Given the description of an element on the screen output the (x, y) to click on. 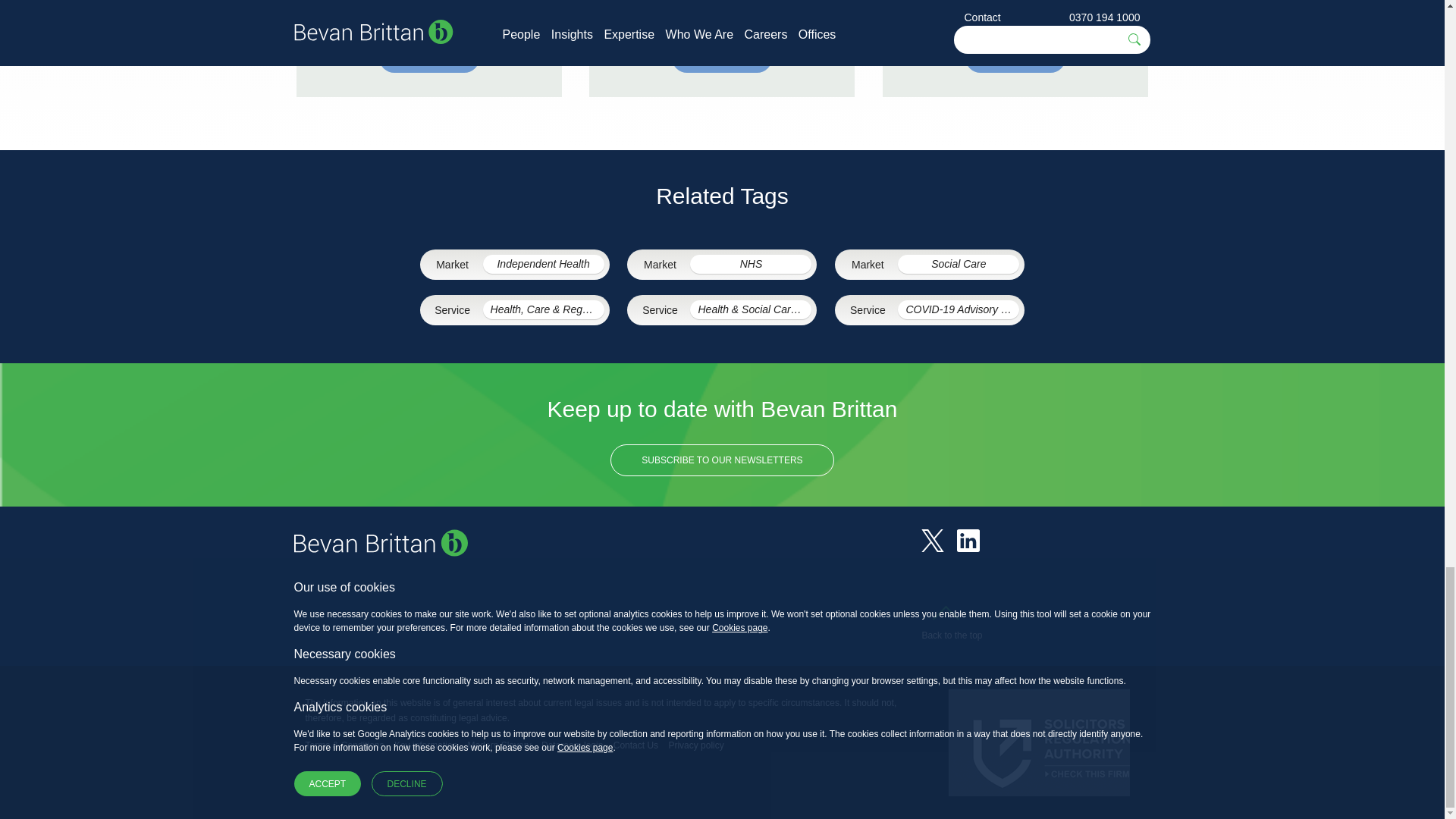
Back to the top (951, 625)
Social Care (958, 263)
Independent Health (543, 263)
NHS (750, 263)
COVID-19 Advisory Service (958, 309)
